Given the description of an element on the screen output the (x, y) to click on. 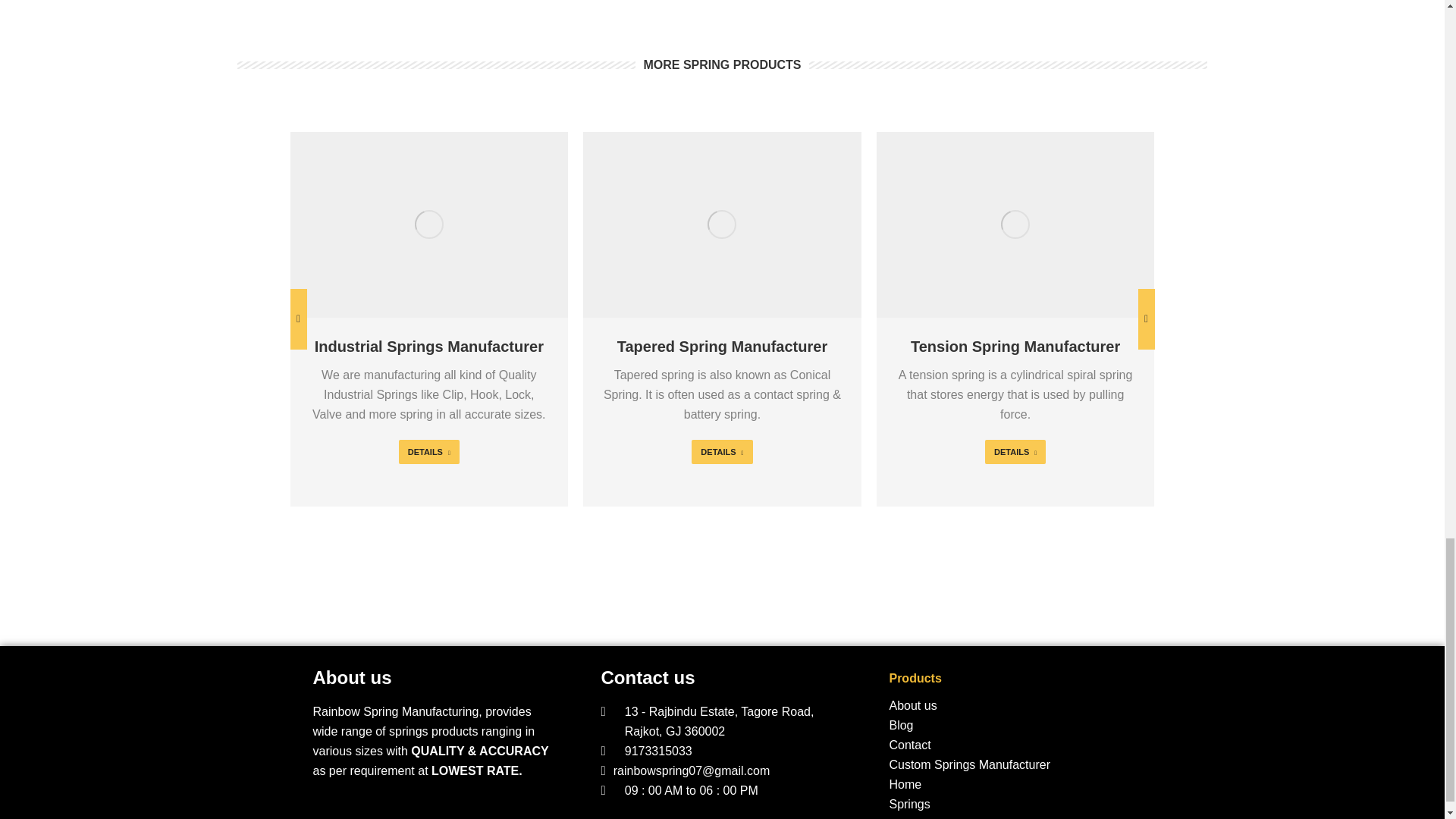
Tapered Spring Manufacturer (722, 346)
Tension Spring Manufacturer (1015, 346)
Industrial Springs Manufacturer (428, 346)
